Given the description of an element on the screen output the (x, y) to click on. 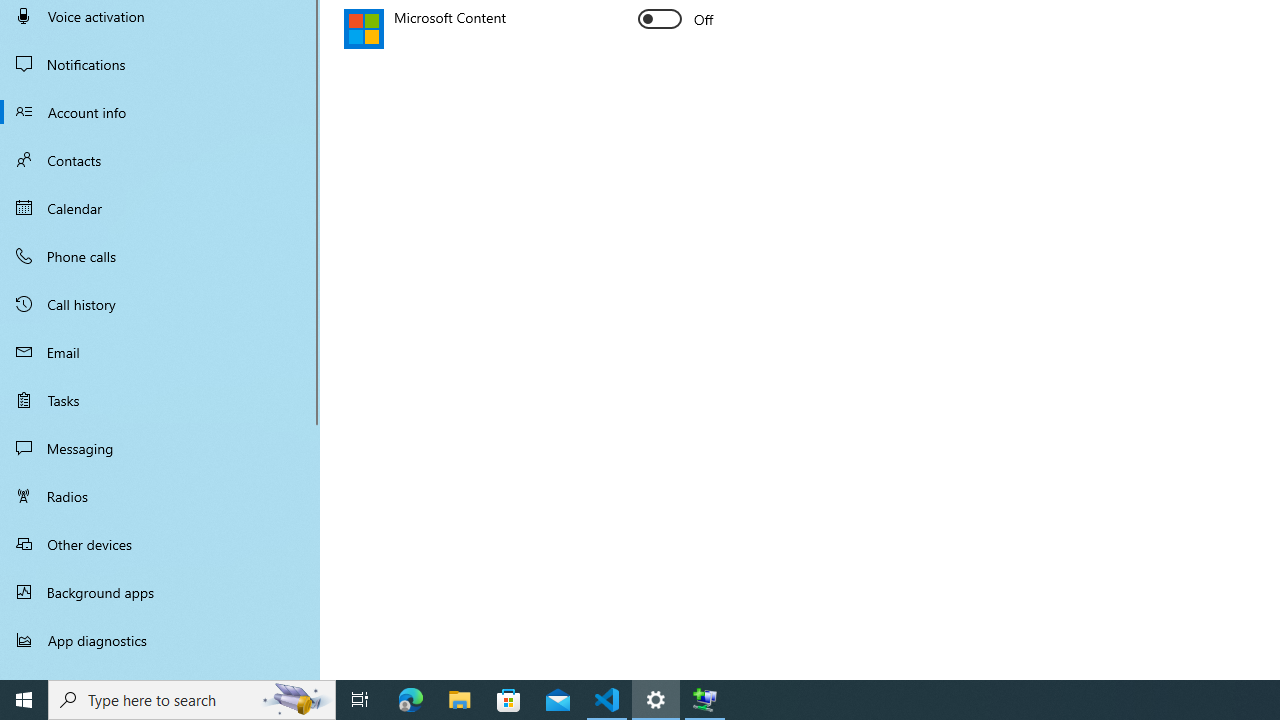
App diagnostics (160, 639)
Microsoft Content (675, 18)
Background apps (160, 592)
Task View (359, 699)
Microsoft Edge (411, 699)
Automatic file downloads (160, 671)
Visual Studio Code - 1 running window (607, 699)
Account info (160, 111)
Contacts (160, 160)
Tasks (160, 399)
File Explorer (460, 699)
